Given the description of an element on the screen output the (x, y) to click on. 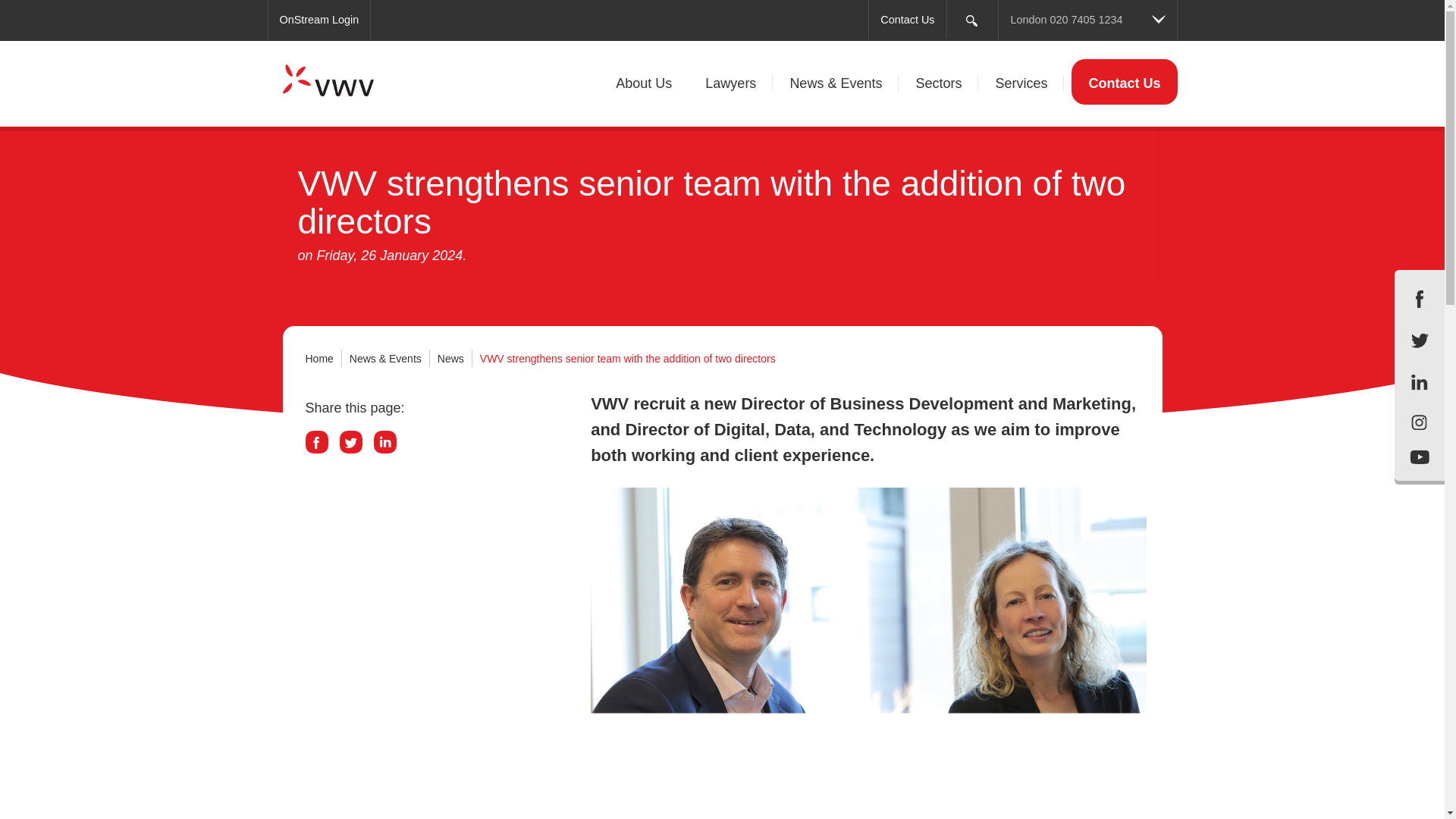
About Us (643, 83)
Sectors (938, 83)
Lawyers (730, 83)
Contact Us (907, 19)
Services (1021, 83)
OnStream Login (318, 19)
